Given the description of an element on the screen output the (x, y) to click on. 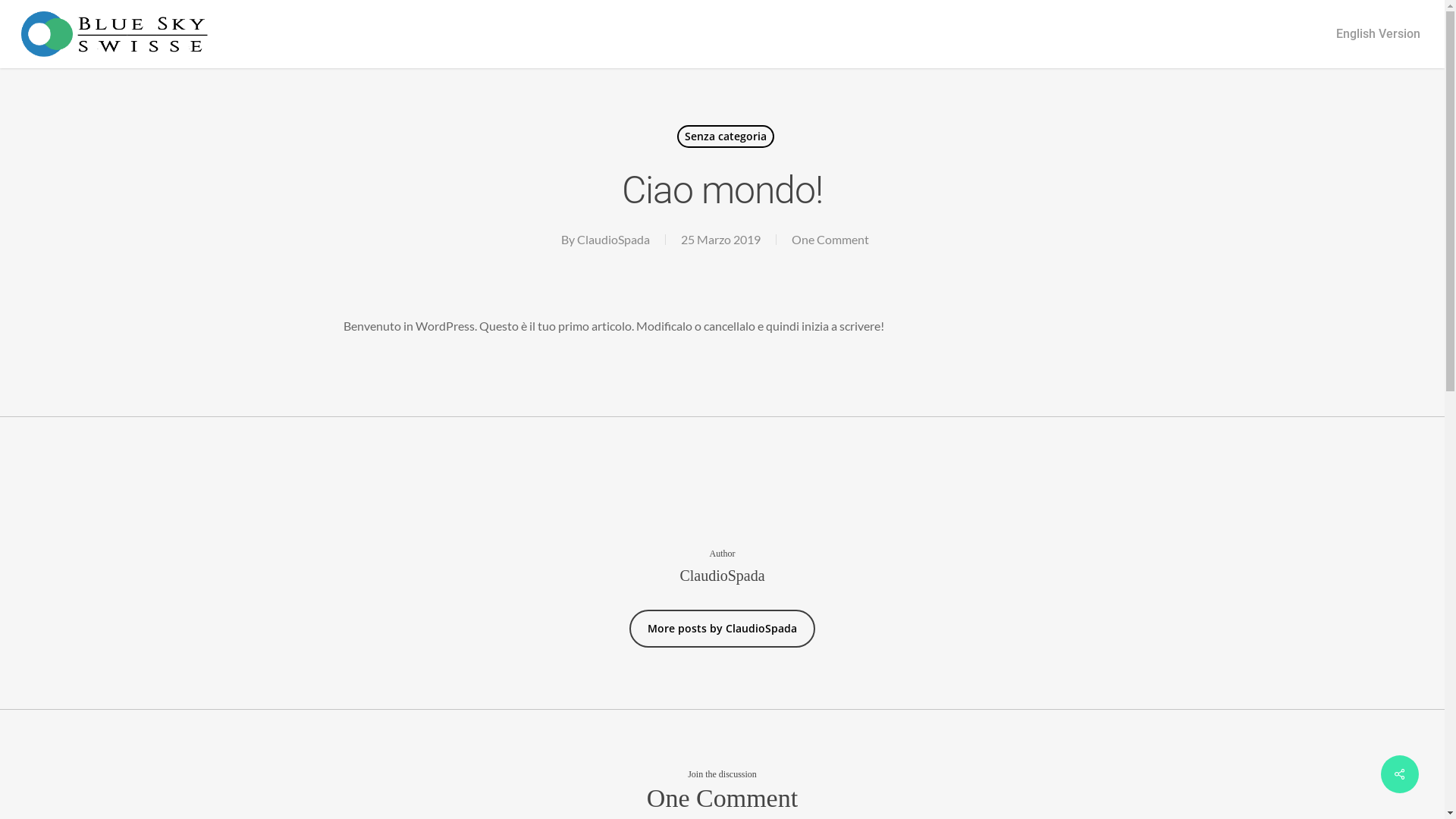
English Version Element type: text (1377, 34)
More posts by ClaudioSpada Element type: text (722, 628)
Senza categoria Element type: text (725, 136)
One Comment Element type: text (830, 239)
ClaudioSpada Element type: text (612, 239)
